Given the description of an element on the screen output the (x, y) to click on. 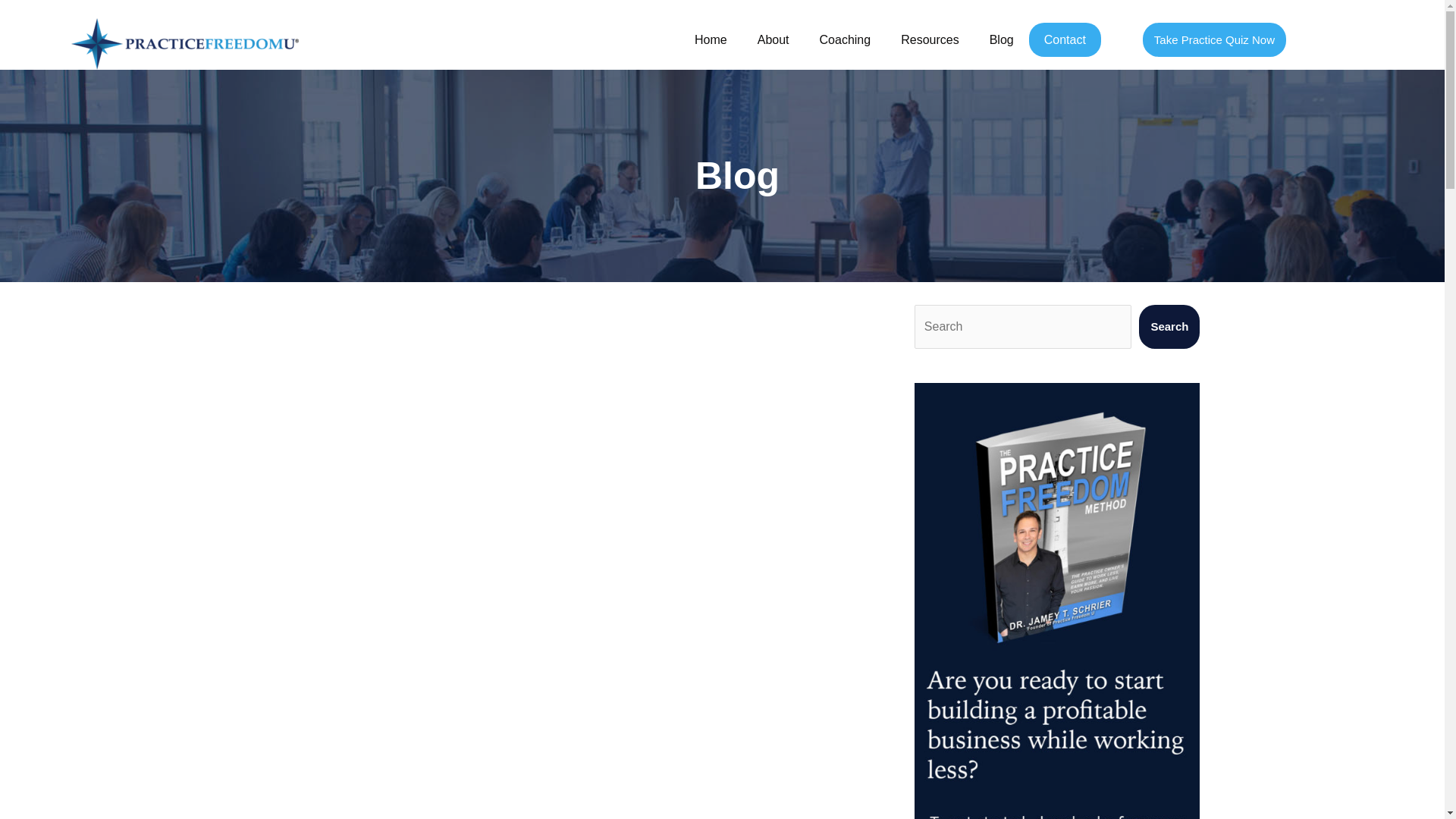
About (773, 39)
Search (1168, 326)
Home (710, 39)
Take Practice Quiz Now (1213, 39)
Coaching (845, 39)
Blog (1001, 39)
Resources (929, 39)
Contact (1064, 39)
